Given the description of an element on the screen output the (x, y) to click on. 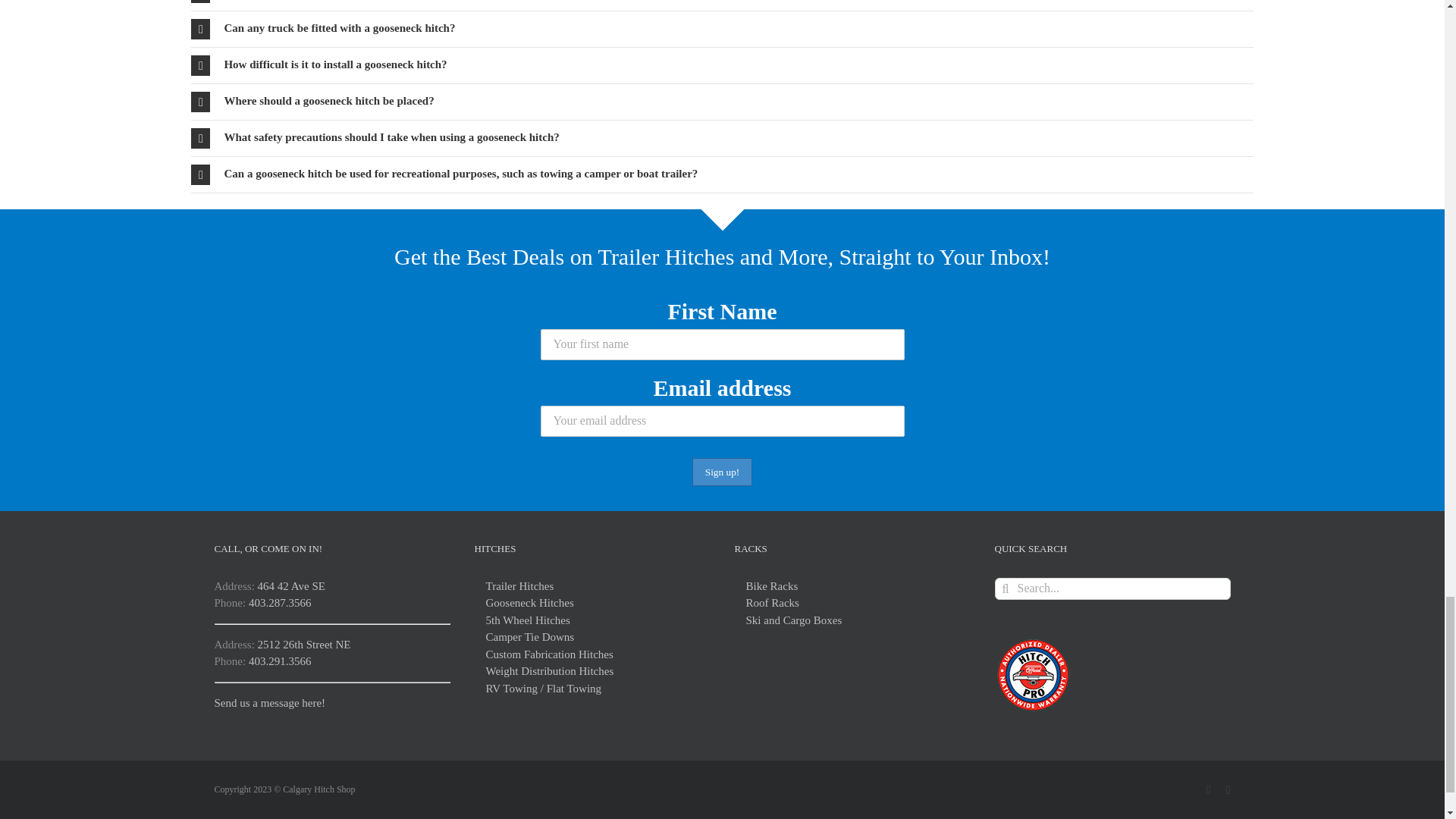
Sign up! (722, 471)
